Given the description of an element on the screen output the (x, y) to click on. 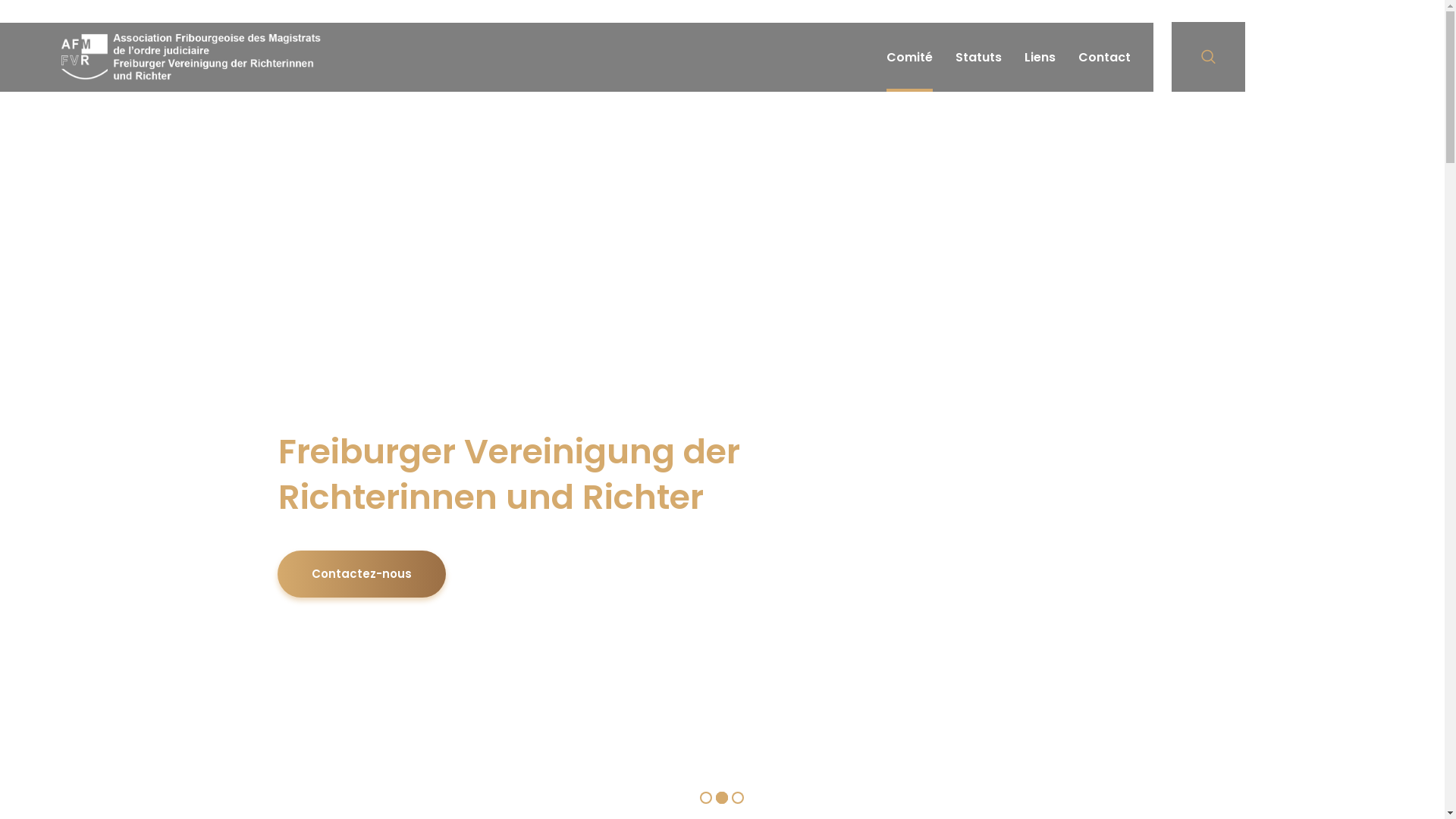
Liens Element type: text (1039, 56)
Contact Element type: text (1104, 56)
Statuts Element type: text (978, 56)
afm-fvr.ch Element type: hover (190, 56)
